Given the description of an element on the screen output the (x, y) to click on. 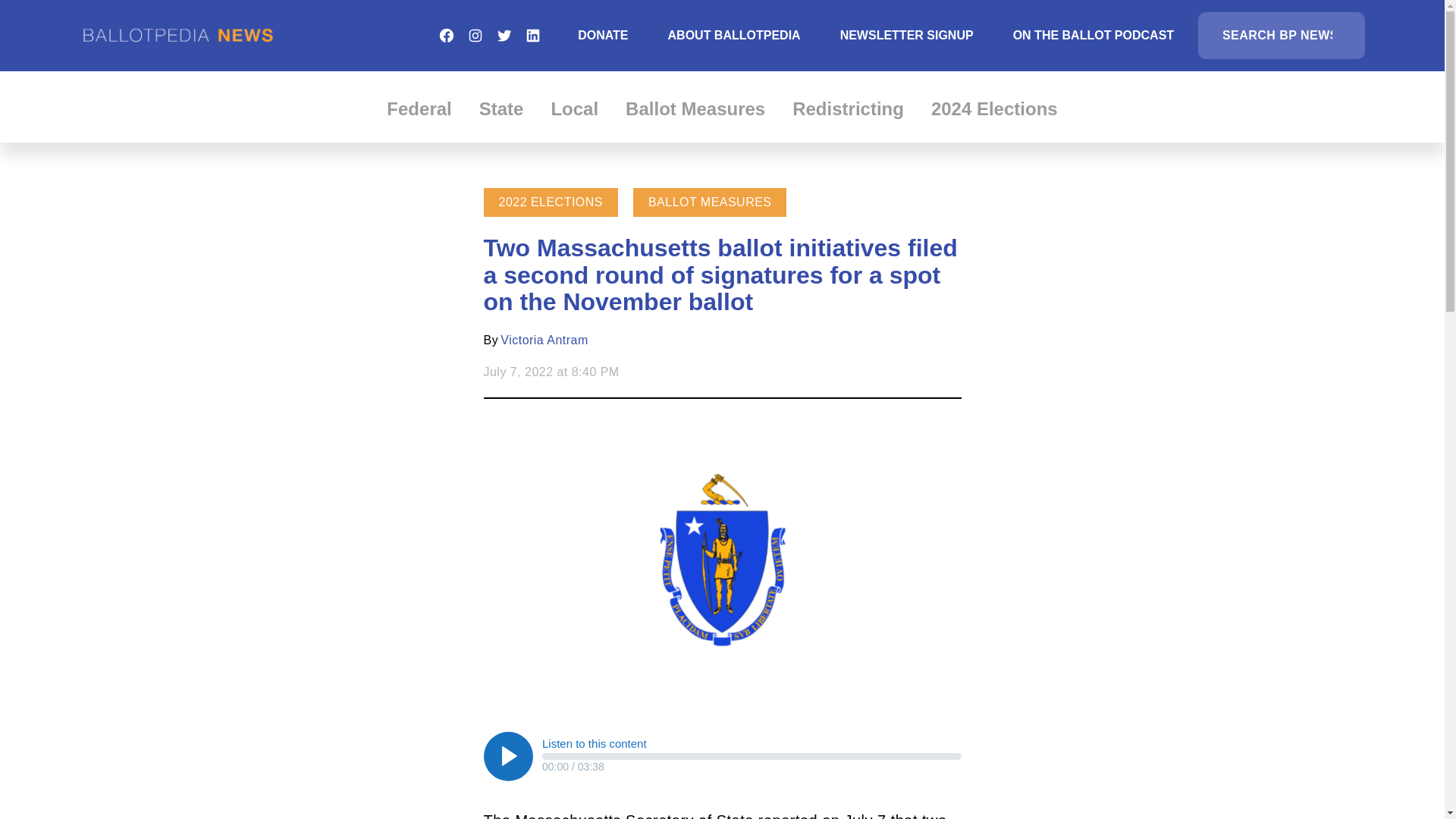
2022 ELECTIONS (550, 201)
Local (574, 108)
BALLOT MEASURES (709, 201)
NEWSLETTER SIGNUP (906, 35)
Redistricting (848, 108)
LinkedIn (532, 35)
Facebook (446, 35)
ABOUT BALLOTPEDIA (734, 35)
State (501, 108)
DONATE (602, 35)
